Given the description of an element on the screen output the (x, y) to click on. 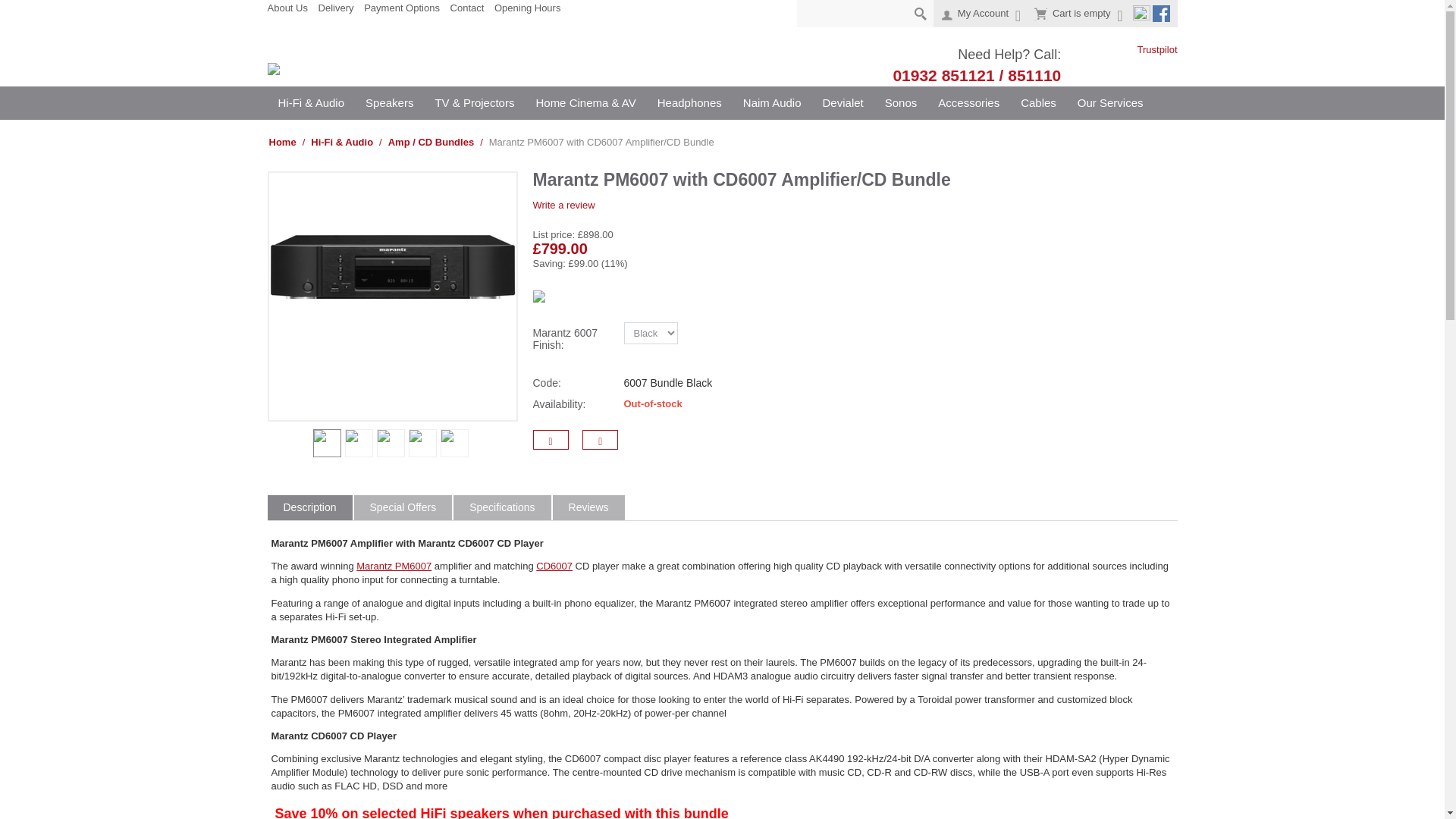
Search products (864, 13)
Weybridge Audio (368, 70)
Marantz PM6007 Black (359, 442)
Search (922, 13)
Cart is empty (1077, 14)
Trustpilot (1128, 49)
Opening Hours (527, 7)
 My Account (981, 14)
Payment Options (401, 7)
Weybridge Audio (368, 70)
Delivery (335, 7)
About Us (286, 7)
Speakers (389, 102)
Contact (466, 7)
